Given the description of an element on the screen output the (x, y) to click on. 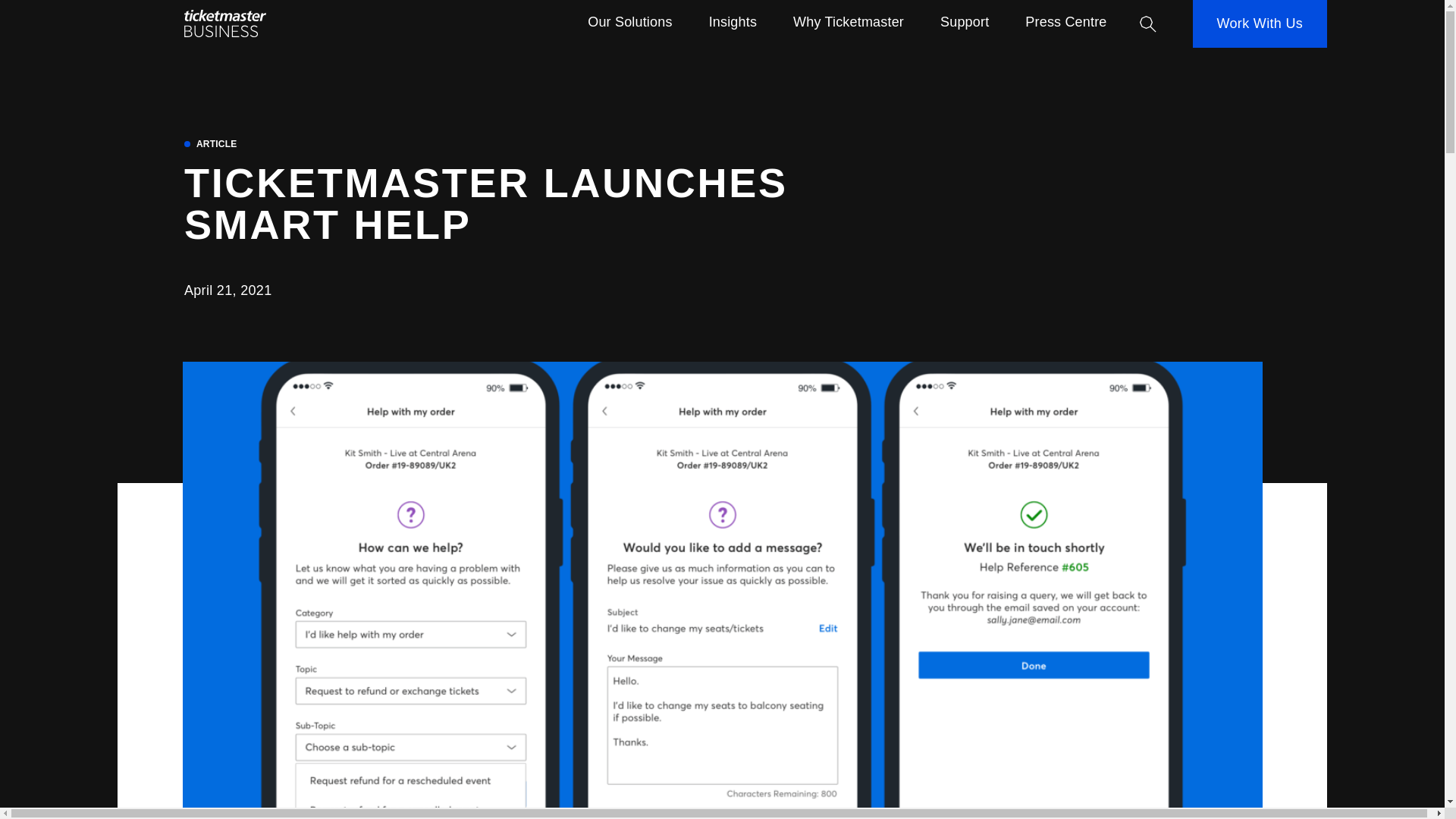
Search (1148, 23)
Why Ticketmaster (848, 23)
Support (964, 23)
Our Solutions (629, 23)
Work With Us (1259, 23)
Insights (733, 23)
Press Centre (1065, 23)
